Given the description of an element on the screen output the (x, y) to click on. 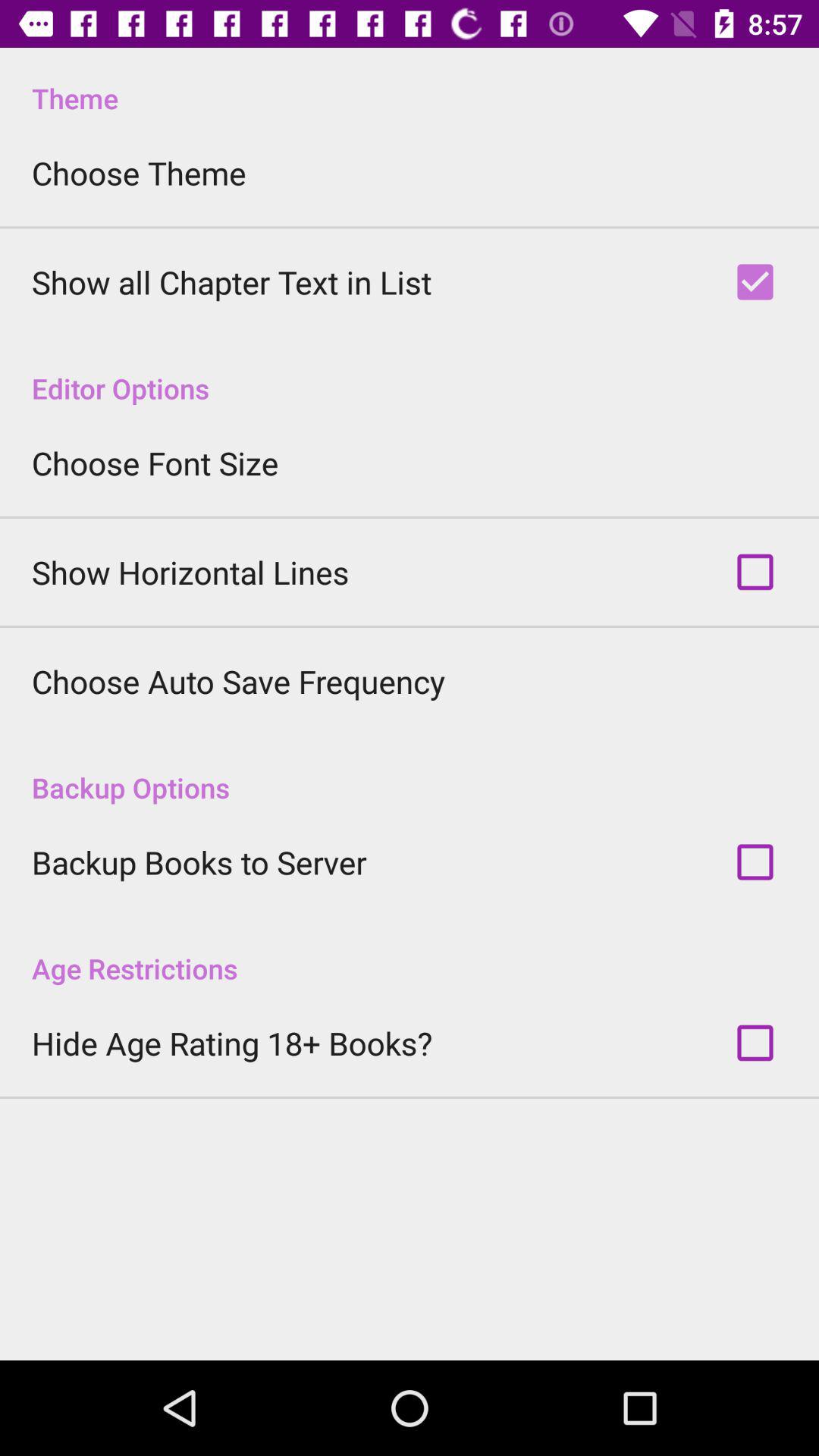
flip until age restrictions icon (409, 952)
